Given the description of an element on the screen output the (x, y) to click on. 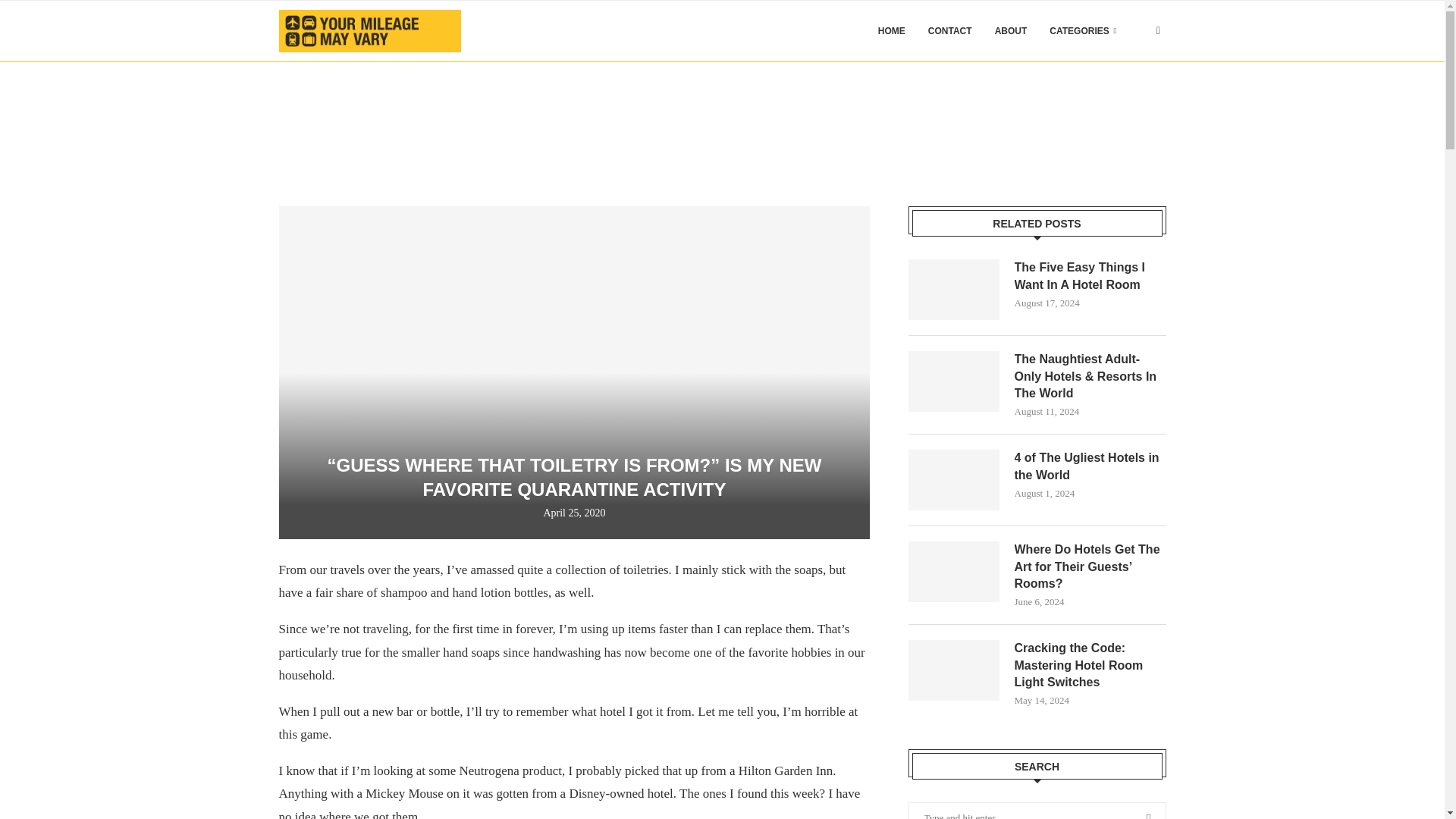
CATEGORIES (1082, 30)
4 of The Ugliest Hotels in the World (1090, 466)
Cracking the Code: Mastering Hotel Room Light Switches (953, 670)
The Five Easy Things I Want In A Hotel Room (1090, 276)
Cracking the Code: Mastering Hotel Room Light Switches (1090, 665)
The Five Easy Things I Want In A Hotel Room (953, 289)
4 of The Ugliest Hotels in the World (953, 479)
